Given the description of an element on the screen output the (x, y) to click on. 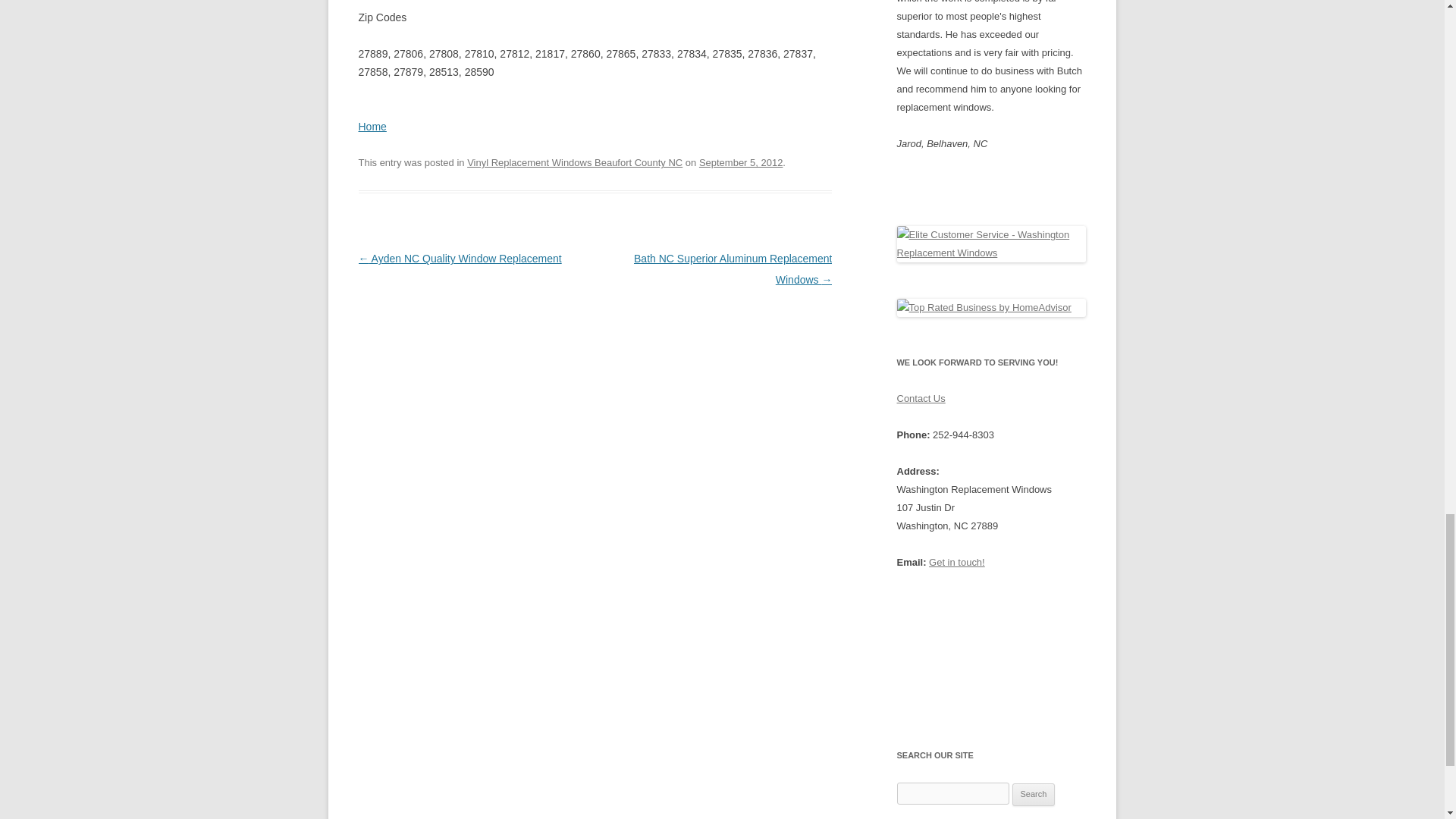
9:56 am (740, 162)
Vinyl Replacement Windows Beaufort County NC (574, 162)
Home (371, 126)
Get in touch! (956, 562)
September 5, 2012 (740, 162)
Contact Us (920, 398)
Search (1033, 793)
Search (1033, 793)
